Given the description of an element on the screen output the (x, y) to click on. 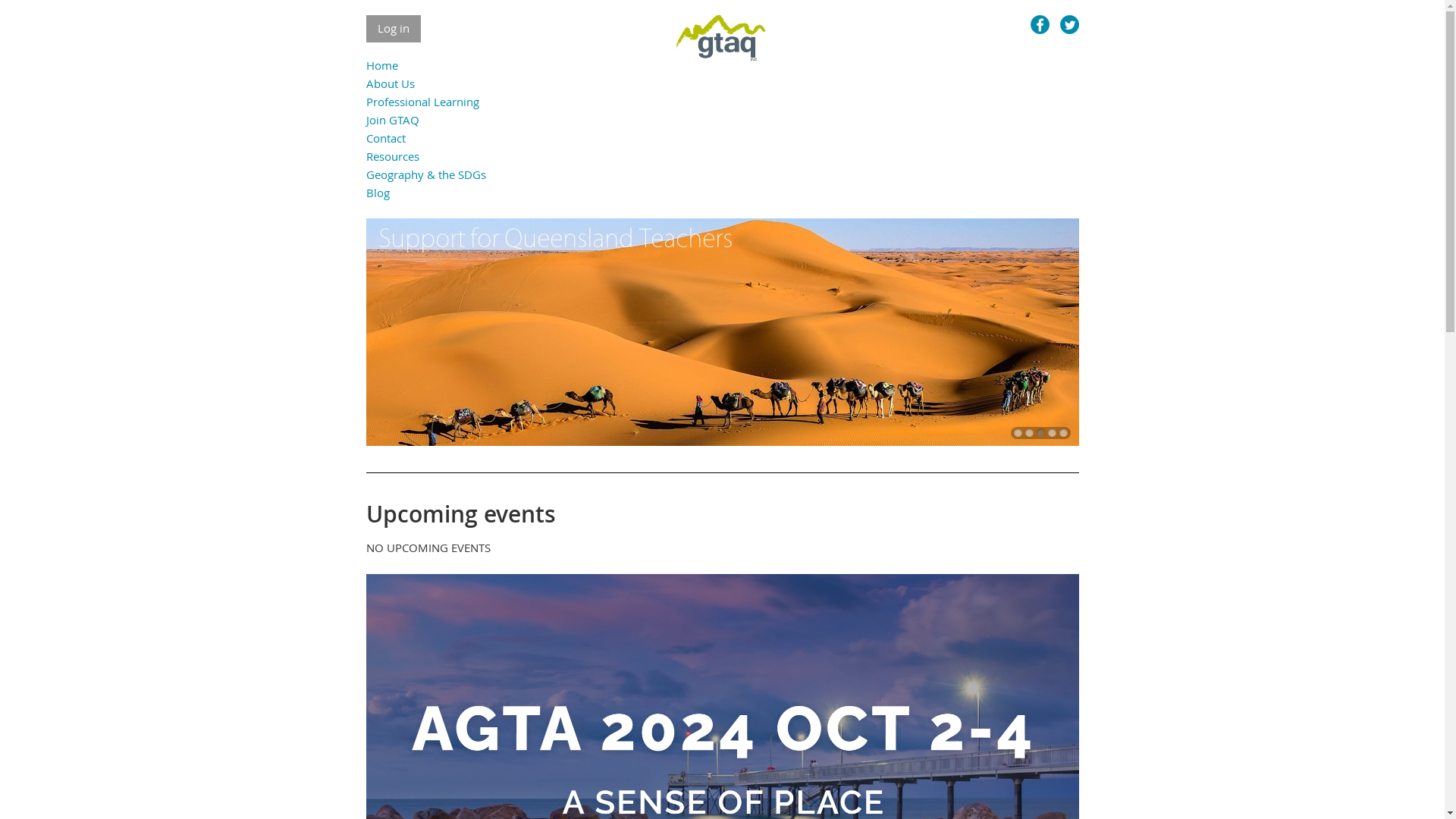
Join GTAQ Element type: text (391, 119)
Facebook Element type: hover (1038, 24)
Contact Element type: text (384, 137)
Twitter Element type: hover (1069, 24)
Geography & the SDGs Element type: text (425, 174)
About Us Element type: text (389, 83)
Professional Learning Element type: text (421, 101)
Blog Element type: text (377, 192)
Log in Element type: text (392, 28)
Resources Element type: text (391, 155)
Home Element type: text (381, 64)
